Given the description of an element on the screen output the (x, y) to click on. 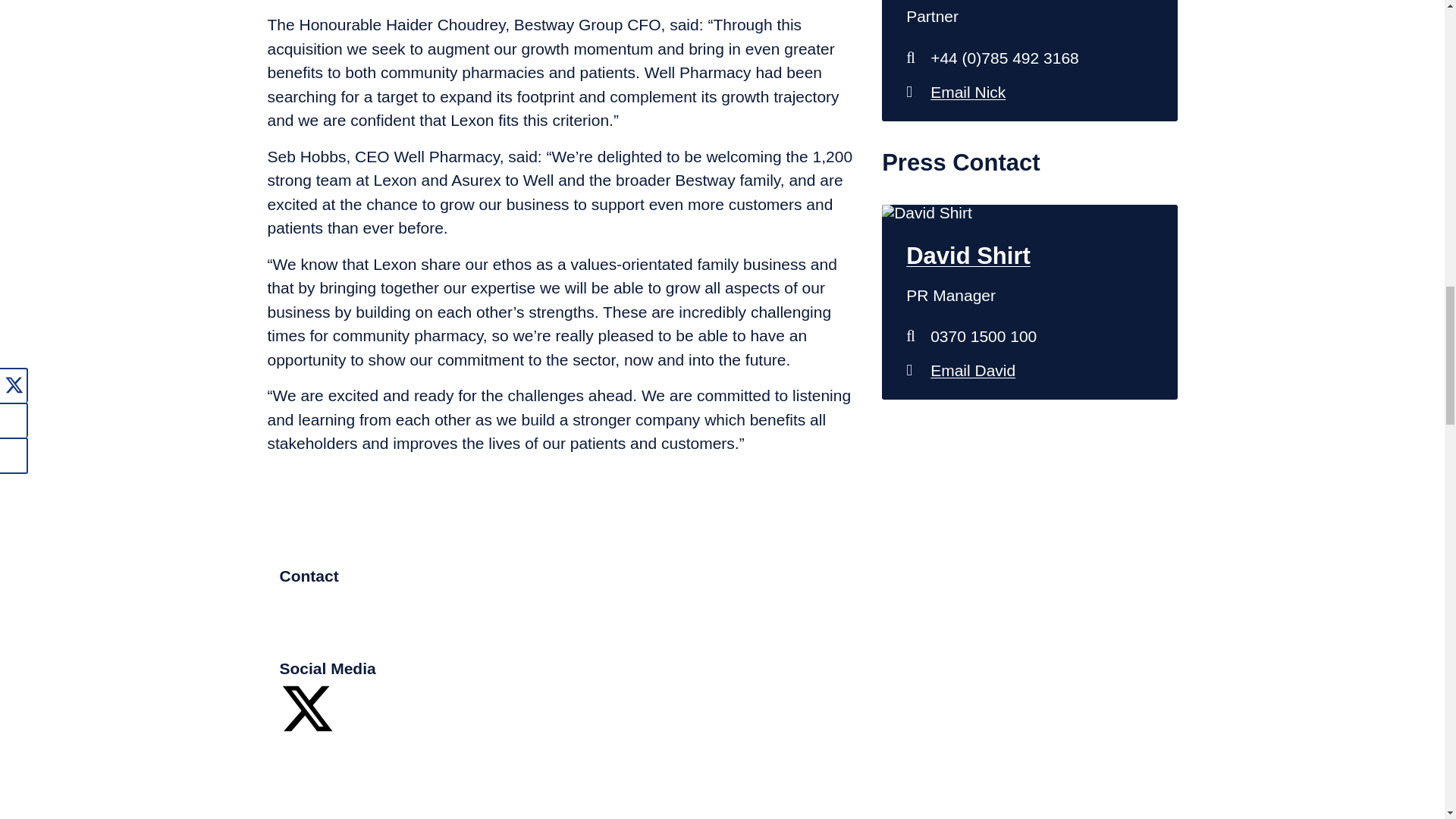
Contact Nick Dawson (1029, 91)
View Profile for David Shirt (1029, 256)
David Shirt (1029, 369)
